Given the description of an element on the screen output the (x, y) to click on. 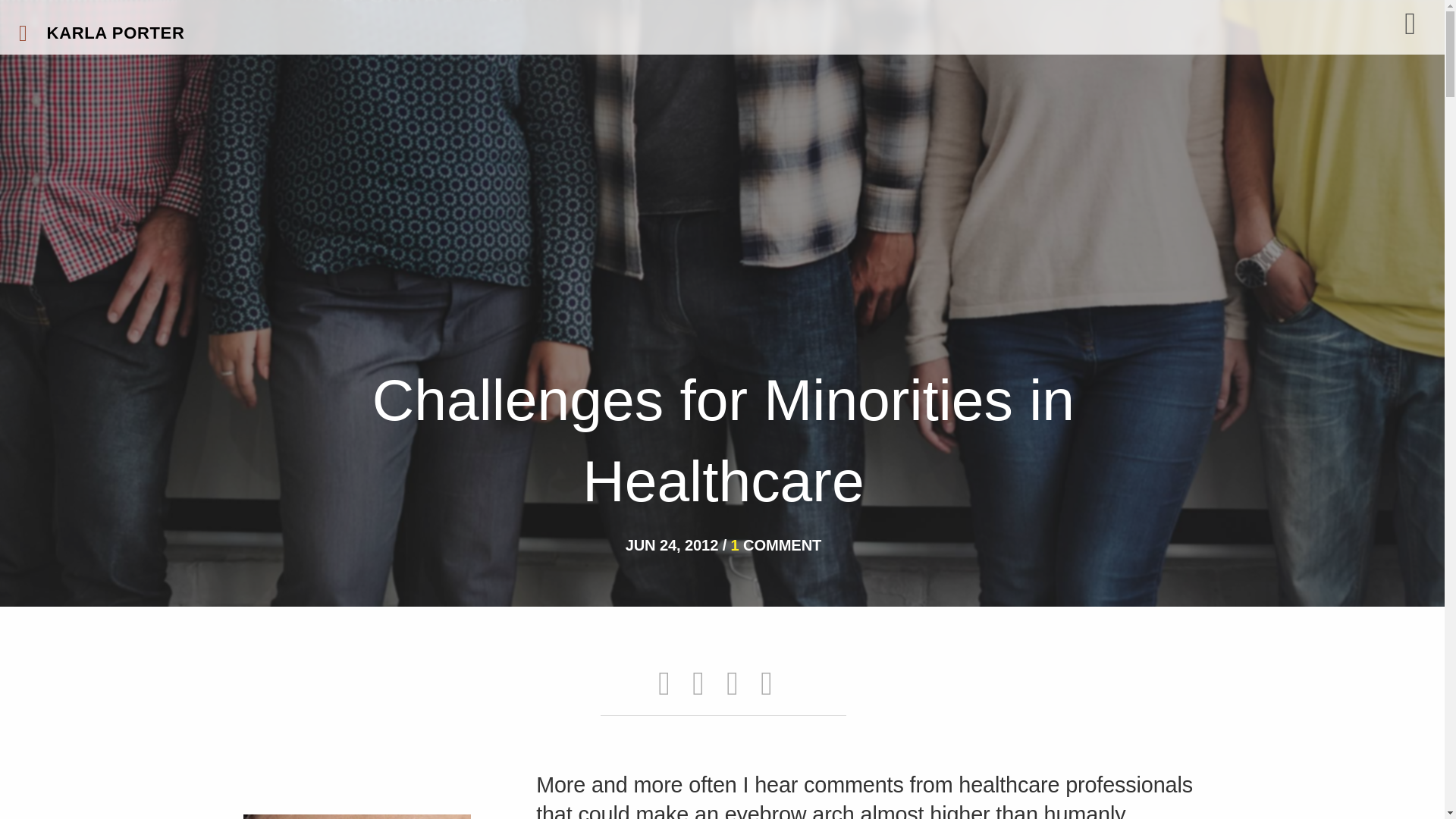
Menu (1412, 22)
KARLA PORTER (100, 32)
eyebrow (356, 816)
